Given the description of an element on the screen output the (x, y) to click on. 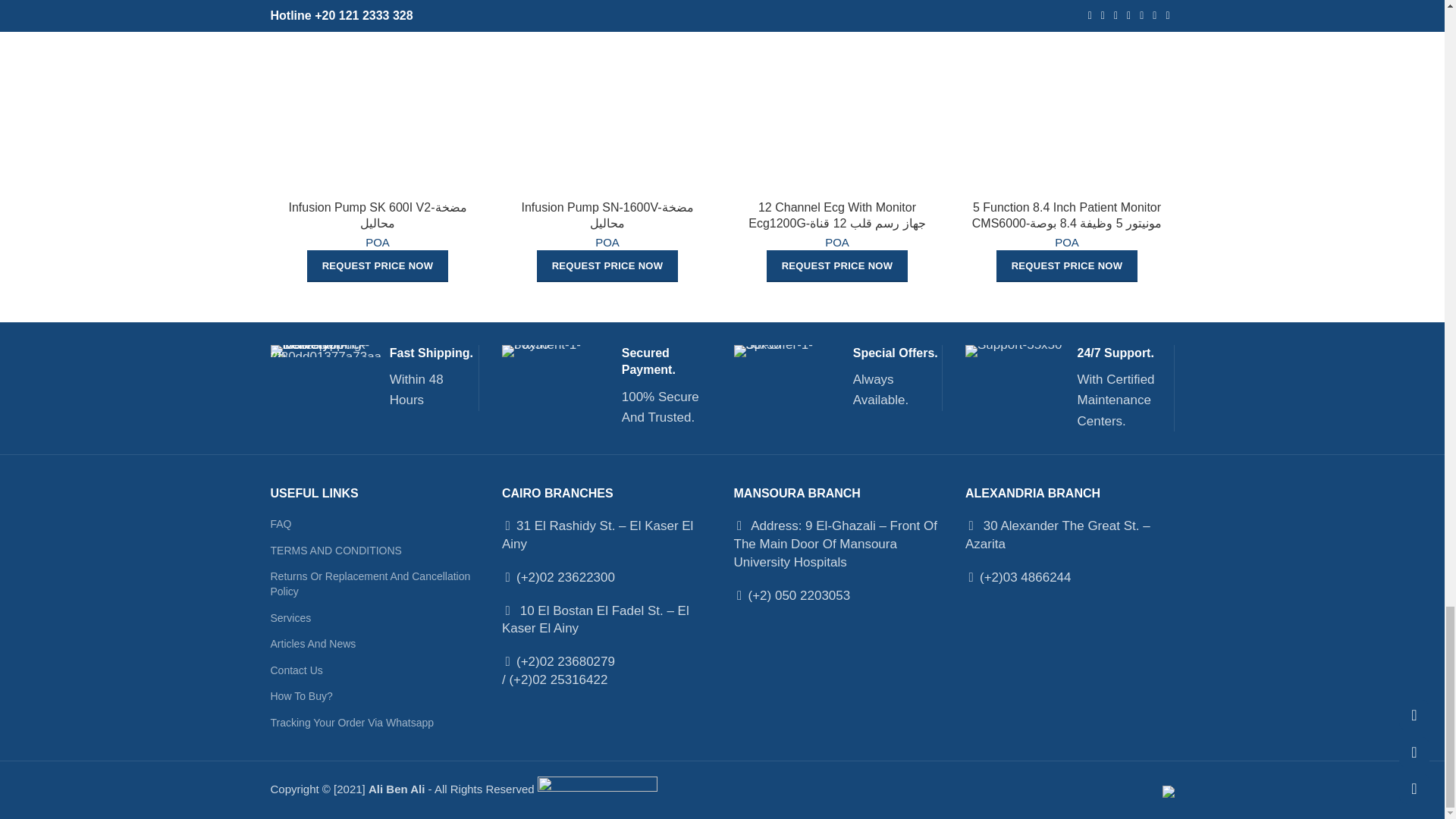
support-55x50 (1013, 350)
spl-offer-1-50x50 (785, 350)
payment-1-50x50 (554, 350)
